Given the description of an element on the screen output the (x, y) to click on. 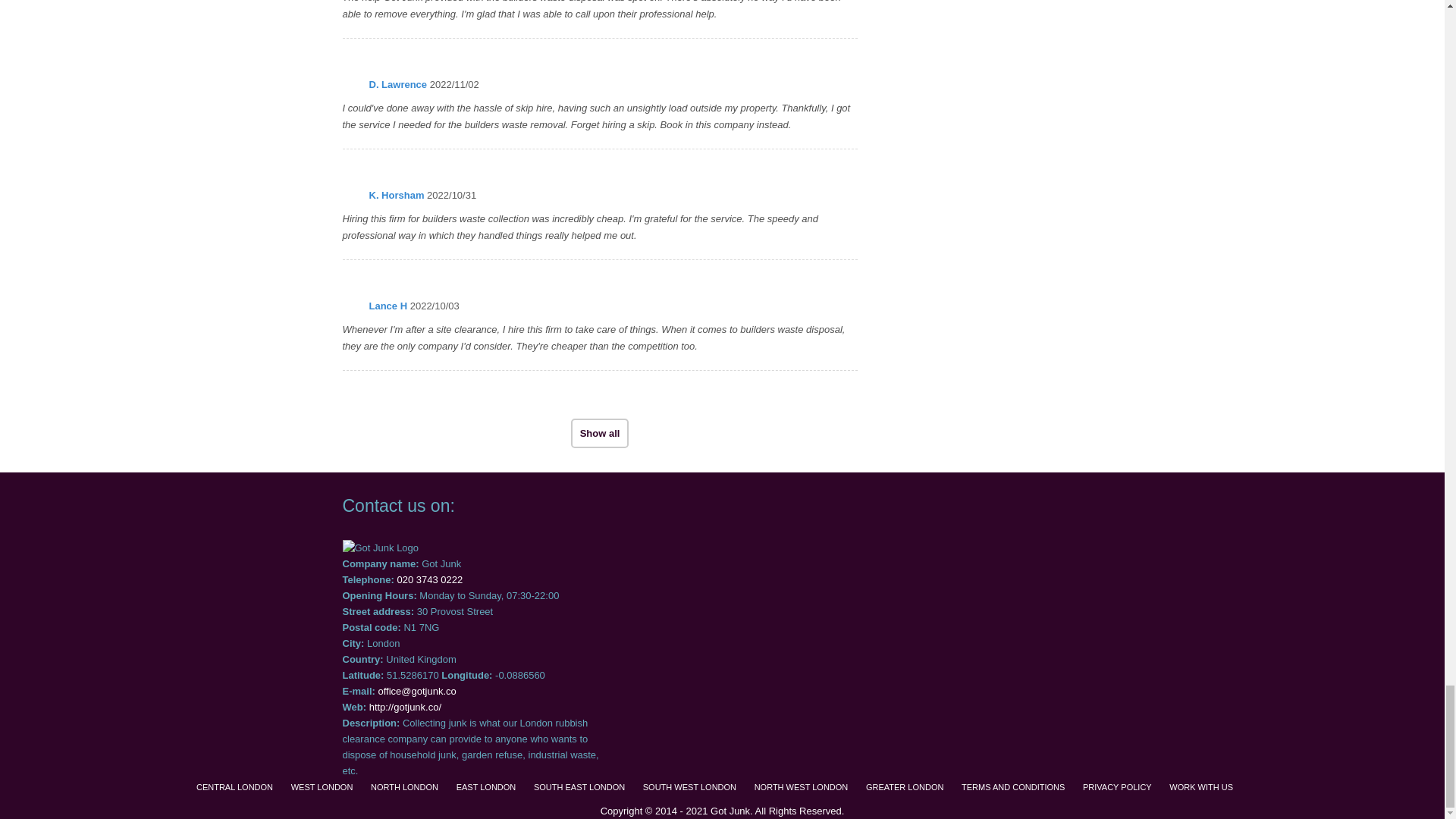
Show all (599, 432)
Send E-mail (416, 690)
